Given the description of an element on the screen output the (x, y) to click on. 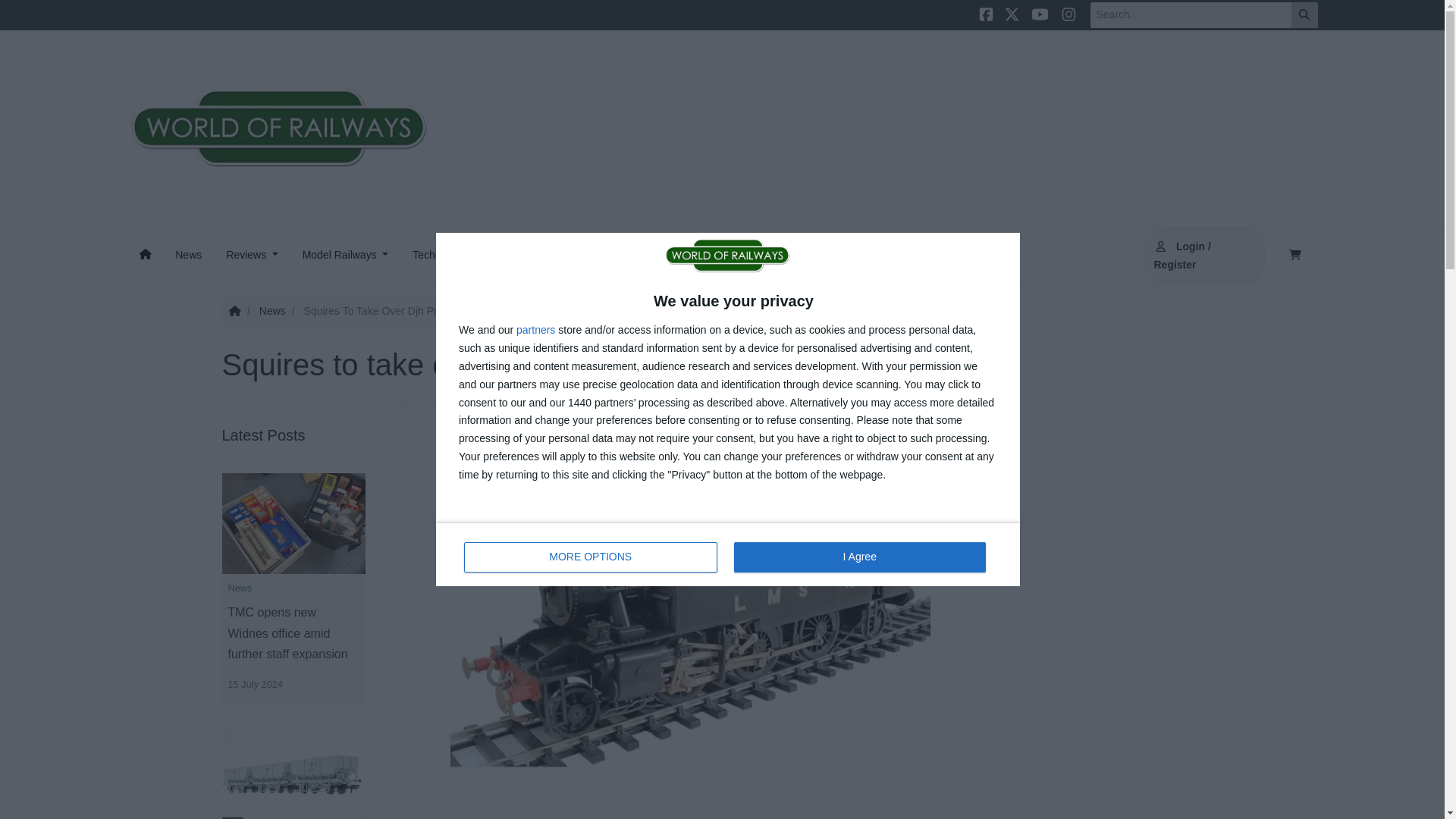
Reviews (251, 256)
I Agree (859, 557)
partners (535, 330)
News (727, 554)
MORE OPTIONS (188, 256)
